Given the description of an element on the screen output the (x, y) to click on. 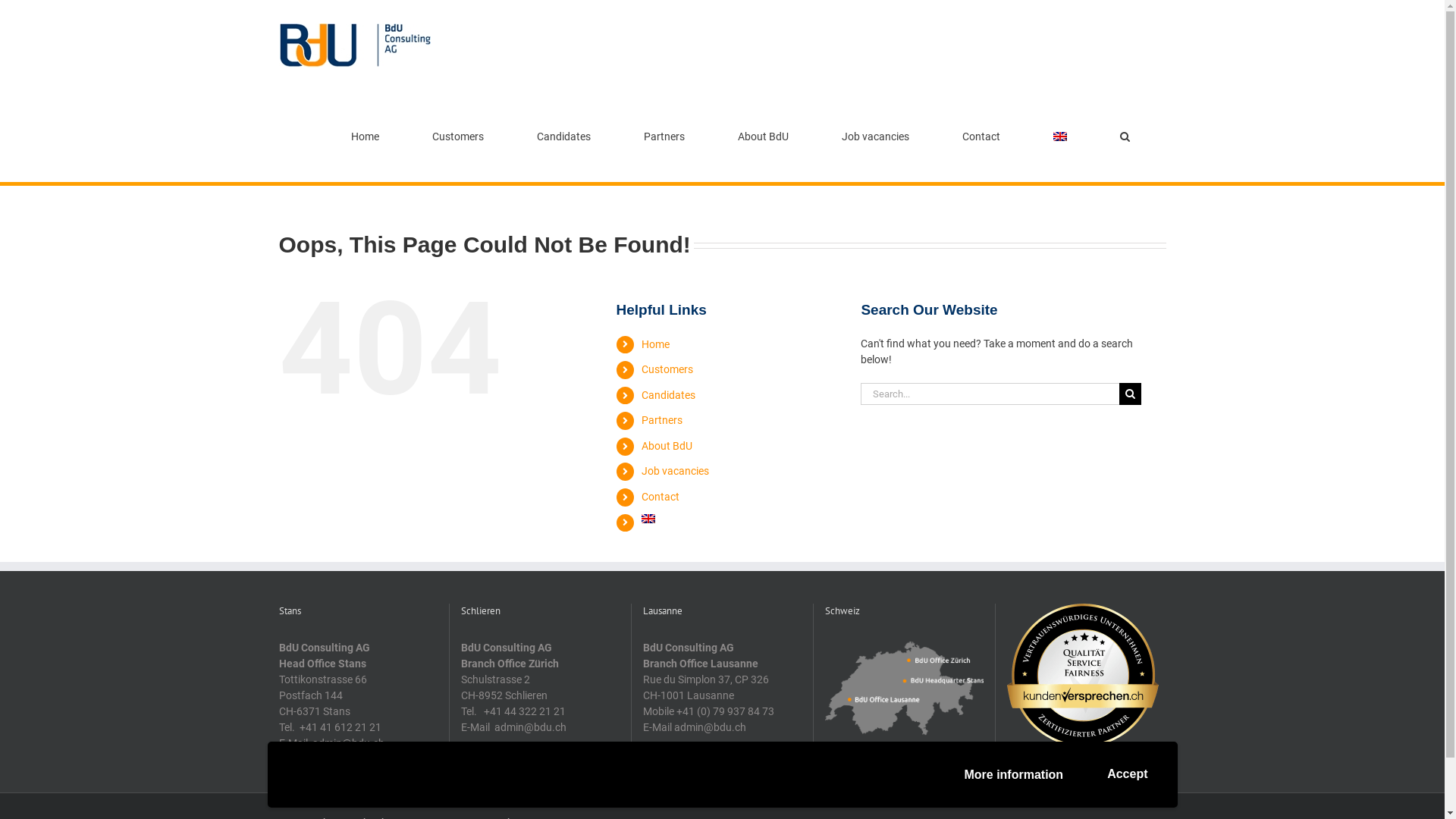
Customers Element type: text (667, 369)
Customers Element type: text (458, 136)
Partners Element type: text (661, 420)
About BdU Element type: text (666, 445)
More information Element type: text (1013, 774)
Partners Element type: text (663, 136)
Job vacancies Element type: text (875, 136)
Candidates Element type: text (564, 136)
Home Element type: text (364, 136)
Job vacancies Element type: text (675, 470)
Contact Element type: text (660, 496)
About BdU Element type: text (762, 136)
Contact Element type: text (980, 136)
Candidates Element type: text (668, 395)
Home Element type: text (655, 344)
Accept Element type: text (1126, 774)
Search Element type: hover (1124, 136)
